Given the description of an element on the screen output the (x, y) to click on. 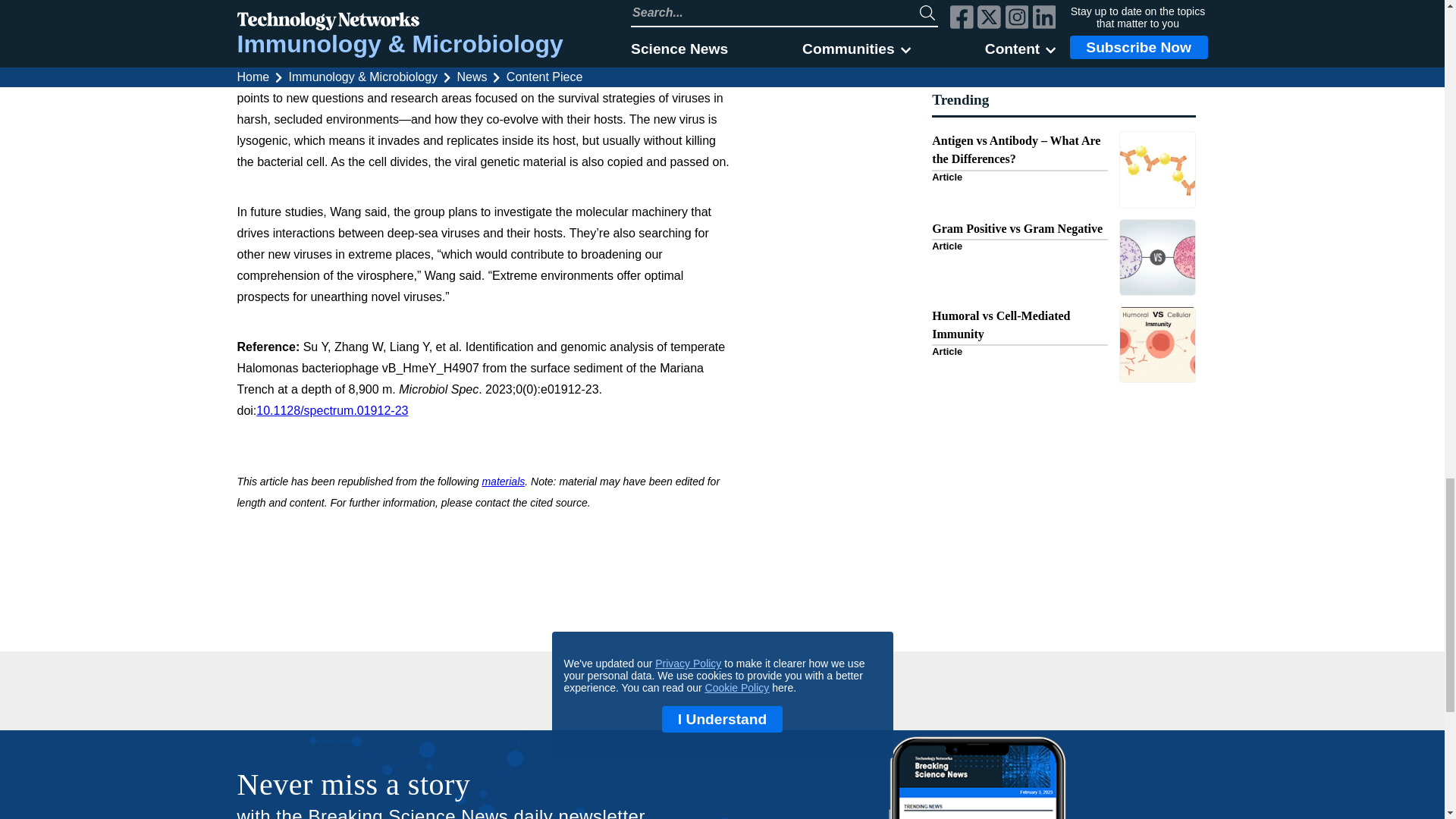
3rd party ad content (721, 695)
